Given the description of an element on the screen output the (x, y) to click on. 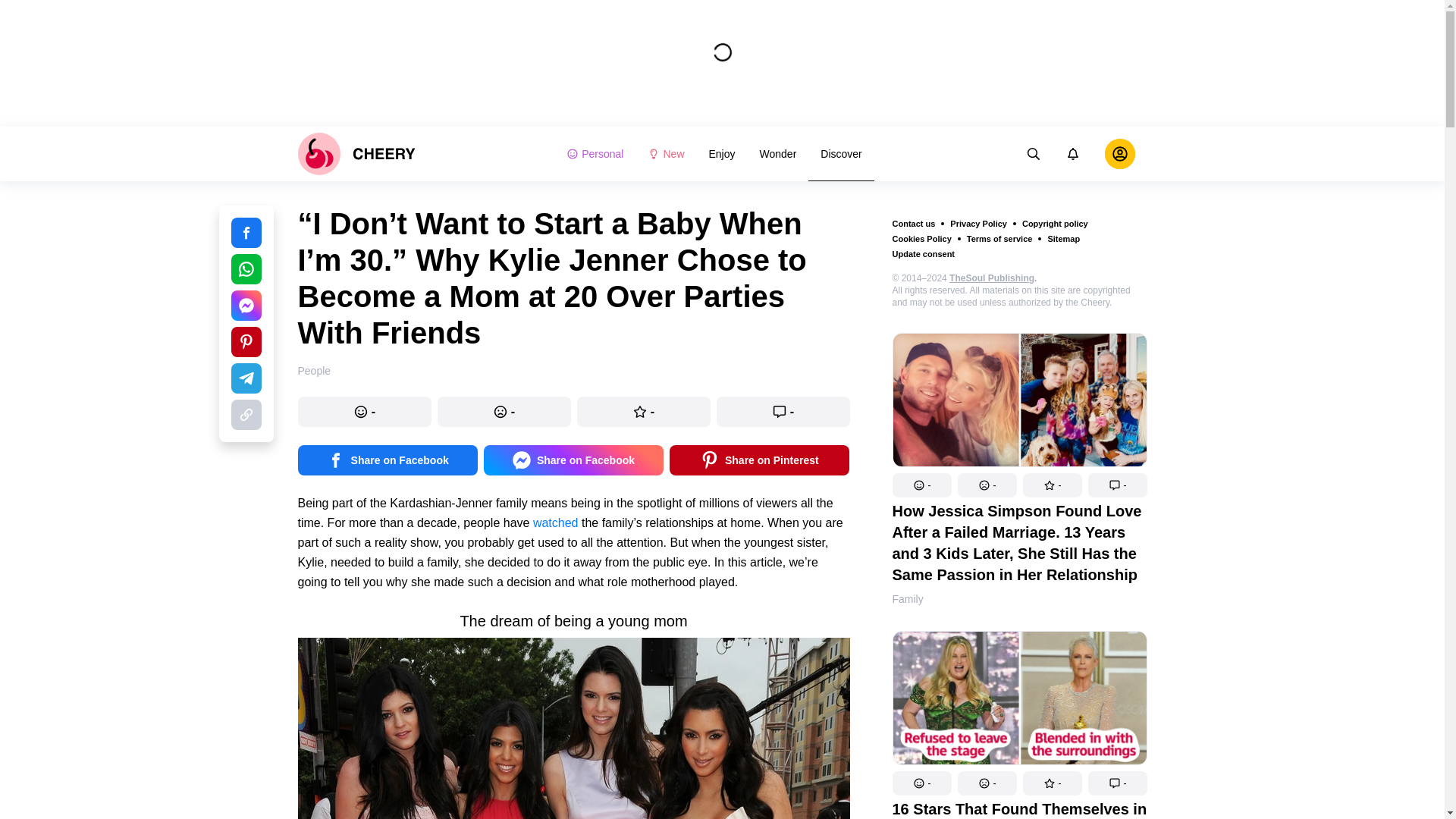
Update consent (923, 254)
Copyright policy (1054, 223)
- (1051, 783)
- (986, 783)
Share on Telegram (245, 378)
Cookies Policy (920, 238)
Family (907, 598)
Contact us (912, 223)
- (920, 485)
- (1117, 783)
Share on WhatsApp (245, 268)
- (986, 485)
- (1117, 485)
Privacy Policy (978, 223)
